Given the description of an element on the screen output the (x, y) to click on. 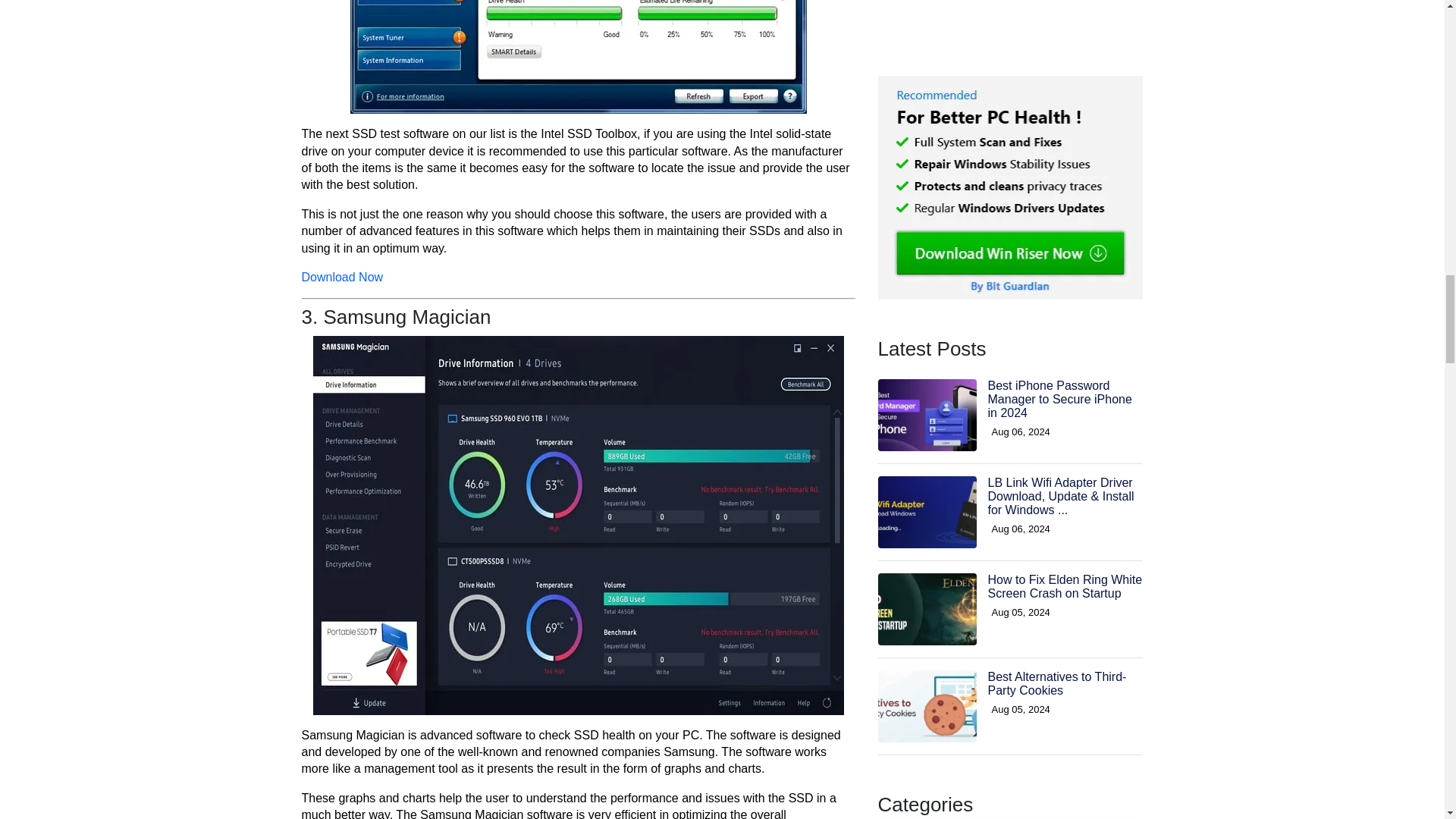
Download Now (342, 277)
